Given the description of an element on the screen output the (x, y) to click on. 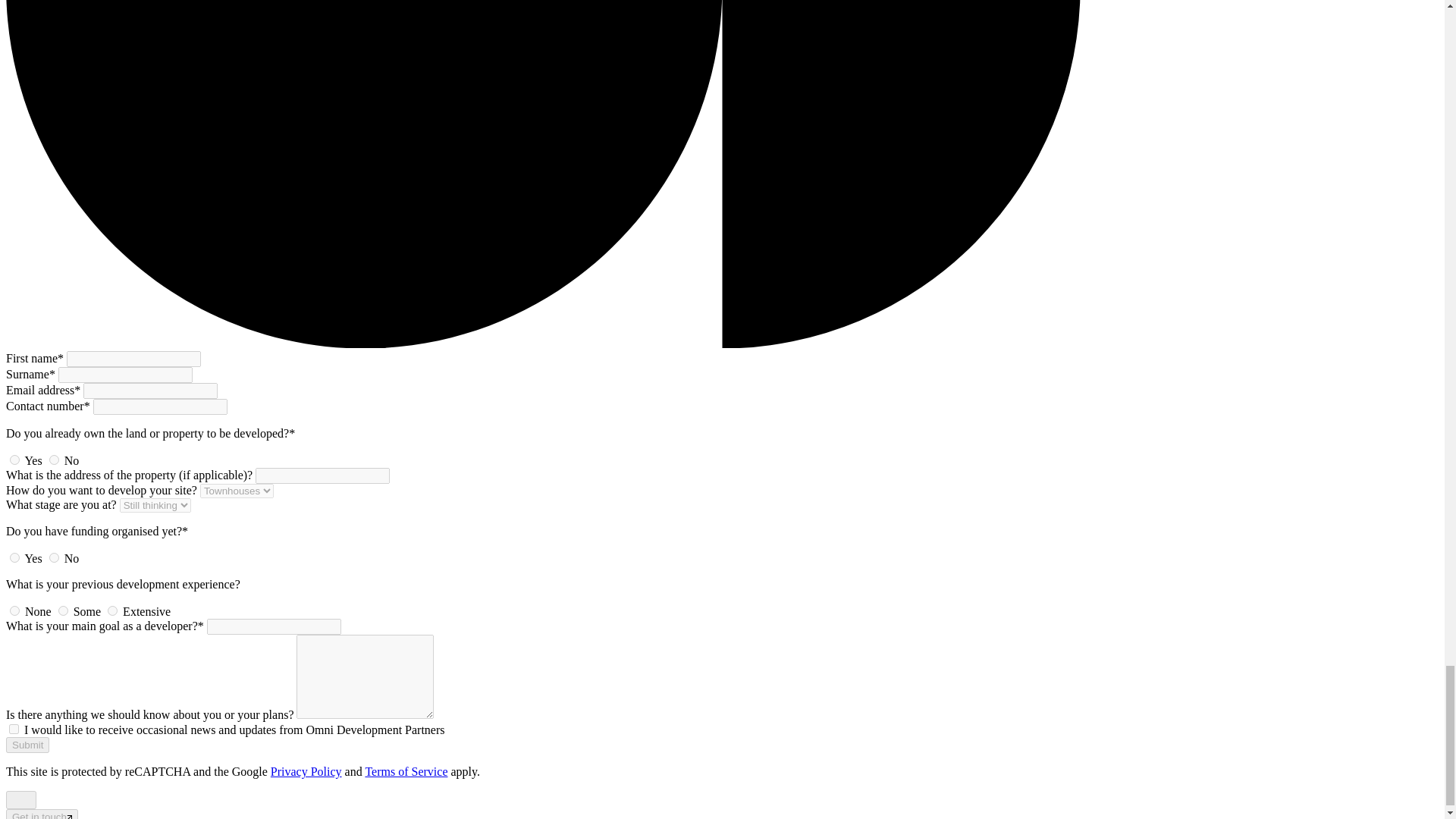
No (54, 557)
true (13, 728)
No (54, 460)
Extensive (112, 610)
Some (63, 610)
Yes (15, 557)
Yes (15, 460)
None (15, 610)
